Given the description of an element on the screen output the (x, y) to click on. 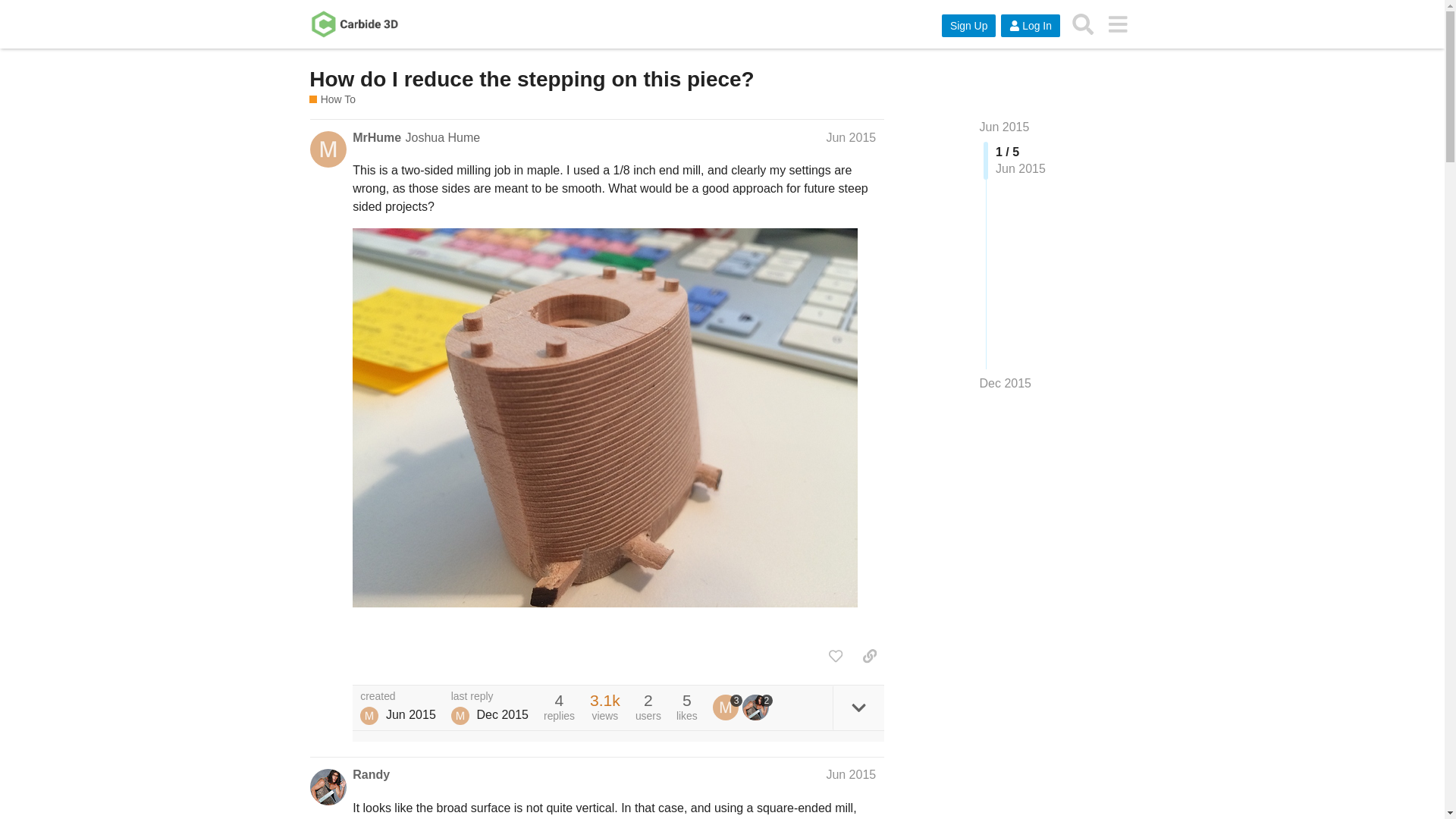
Dec 1, 2015 3:58 am (502, 714)
How do I reduce the stepping on this piece? (531, 78)
MrHume (376, 137)
MrHume (727, 707)
Jump to the last post (1005, 382)
Jun 2015 (850, 137)
Jump to the first post (1004, 126)
expand topic details (857, 707)
Joshua Hume (442, 137)
Jun 2015 (850, 774)
like this post (835, 655)
Joshua Hume (368, 715)
copy a link to this post to clipboard (869, 655)
Sign Up (968, 25)
Jun 2015 (1004, 126)
